Given the description of an element on the screen output the (x, y) to click on. 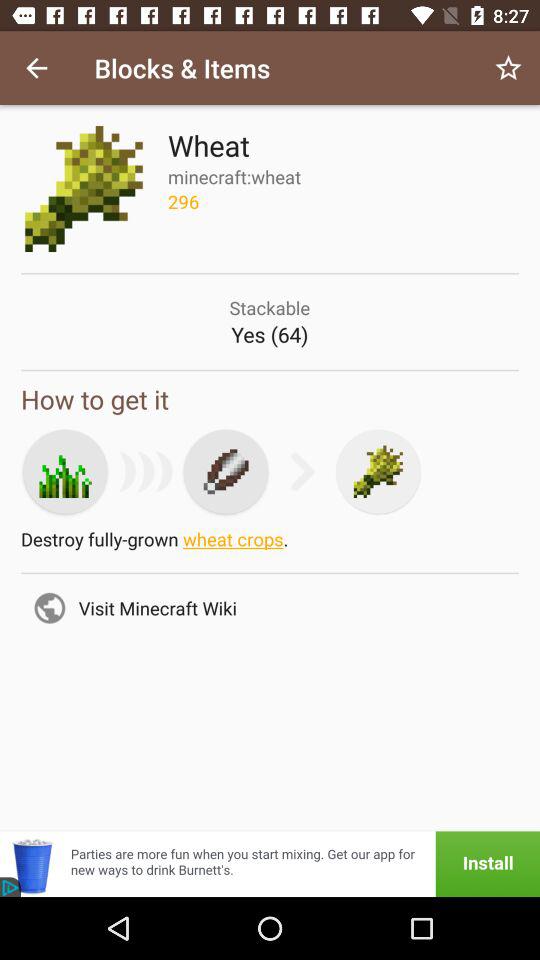
install third party app (270, 864)
